Given the description of an element on the screen output the (x, y) to click on. 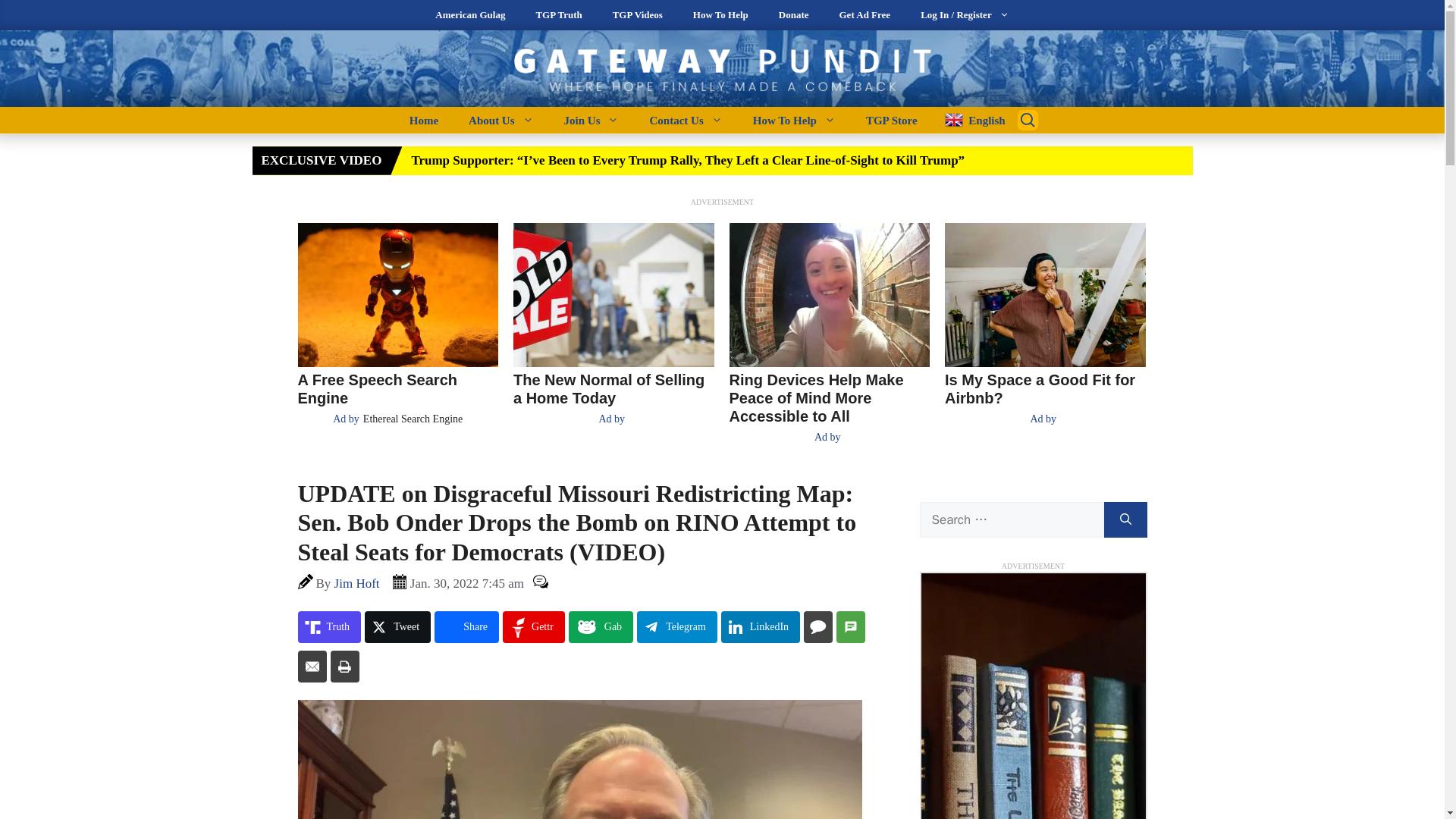
Share on Truth (329, 626)
TGP Truth (557, 15)
Share on LinkedIn (759, 626)
Get Ad Free (864, 15)
Contact Us (684, 120)
Join Us (591, 120)
American Gulag (469, 15)
Share on Gab (601, 626)
How To Help (720, 15)
Share on Gettr (533, 626)
TGP Videos (637, 15)
View all posts by Jim Hoft (357, 583)
